Given the description of an element on the screen output the (x, y) to click on. 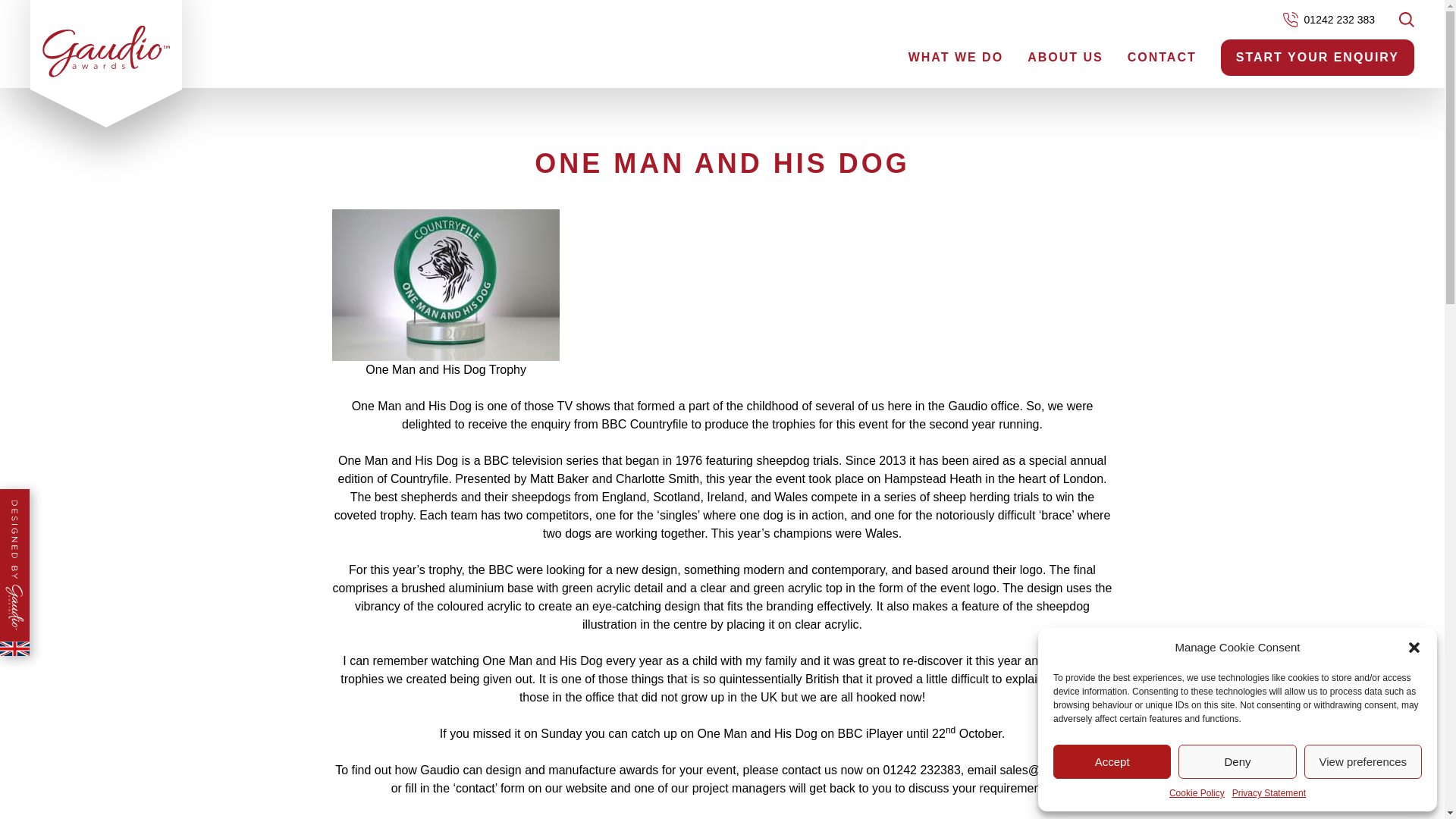
View preferences (1363, 761)
Privacy Statement (1268, 793)
Deny (1236, 761)
Accept (1111, 761)
Cookie Policy (1196, 793)
